Given the description of an element on the screen output the (x, y) to click on. 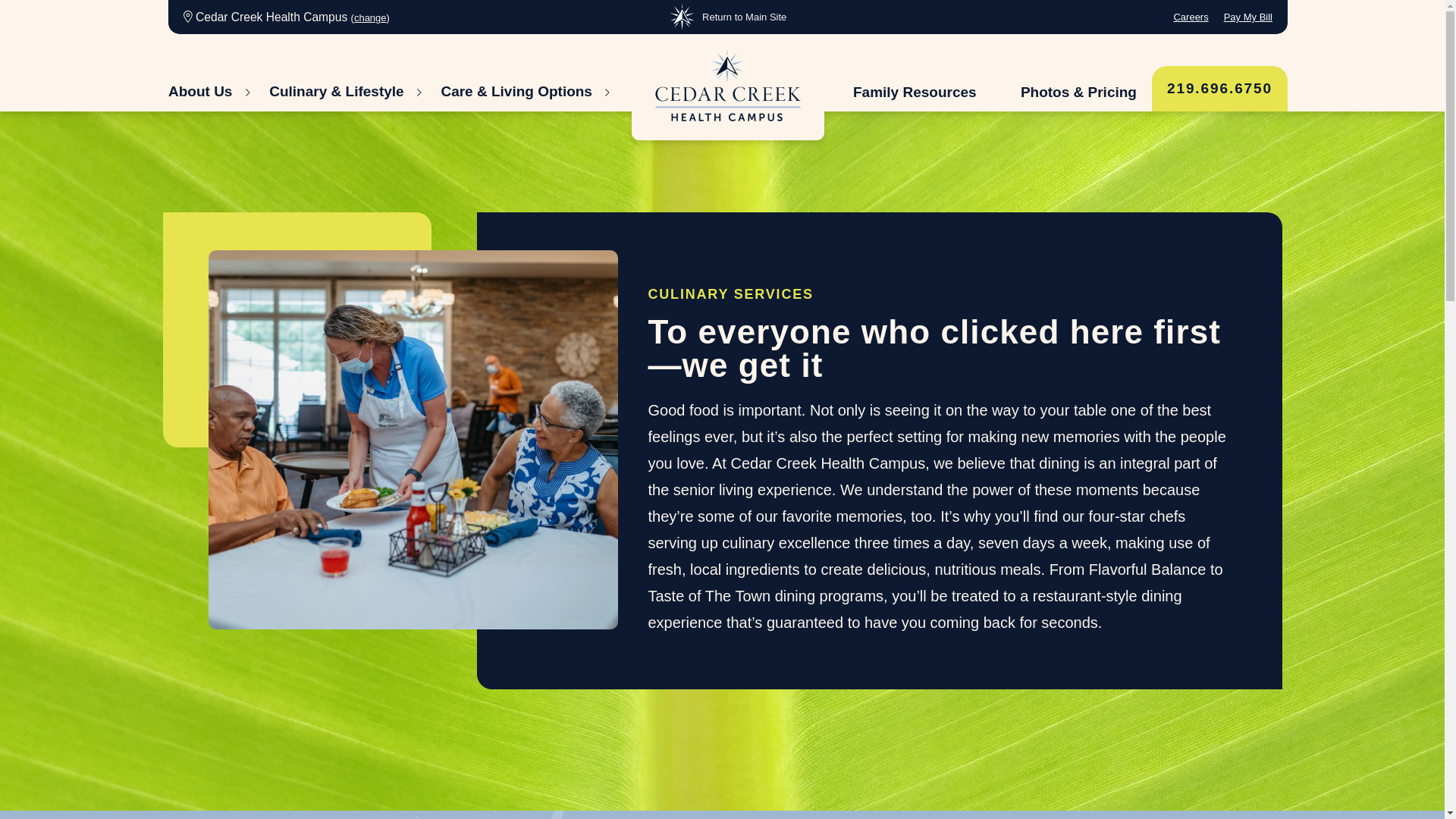
Family Resources (914, 92)
Pay My Bill (1248, 16)
Careers (1190, 16)
About Us (209, 91)
About Us (209, 91)
Pay My Bill (1248, 16)
change (370, 17)
Caregiver Resources (914, 92)
Return to Main Site (728, 17)
219.696.6750 (1219, 88)
Careers (1190, 16)
